Given the description of an element on the screen output the (x, y) to click on. 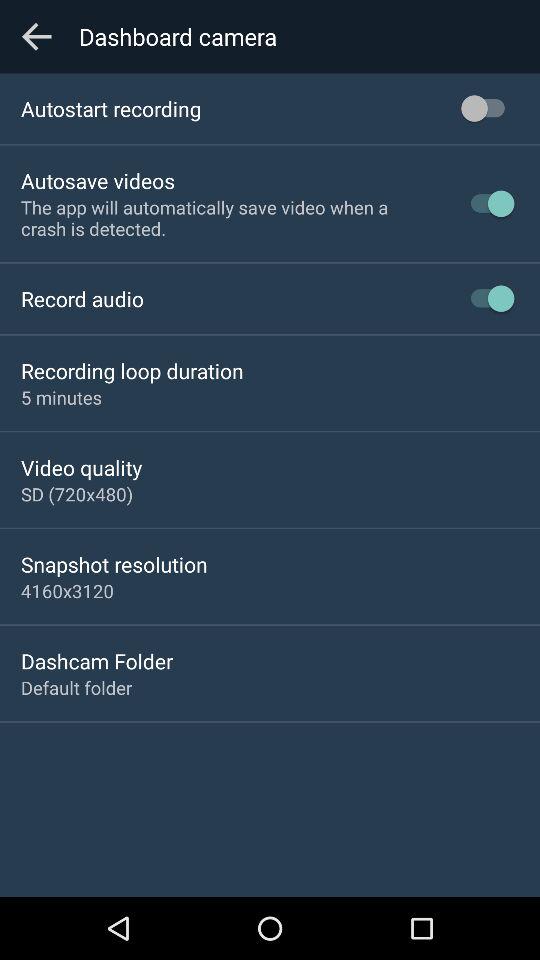
flip to autostart recording icon (111, 108)
